Given the description of an element on the screen output the (x, y) to click on. 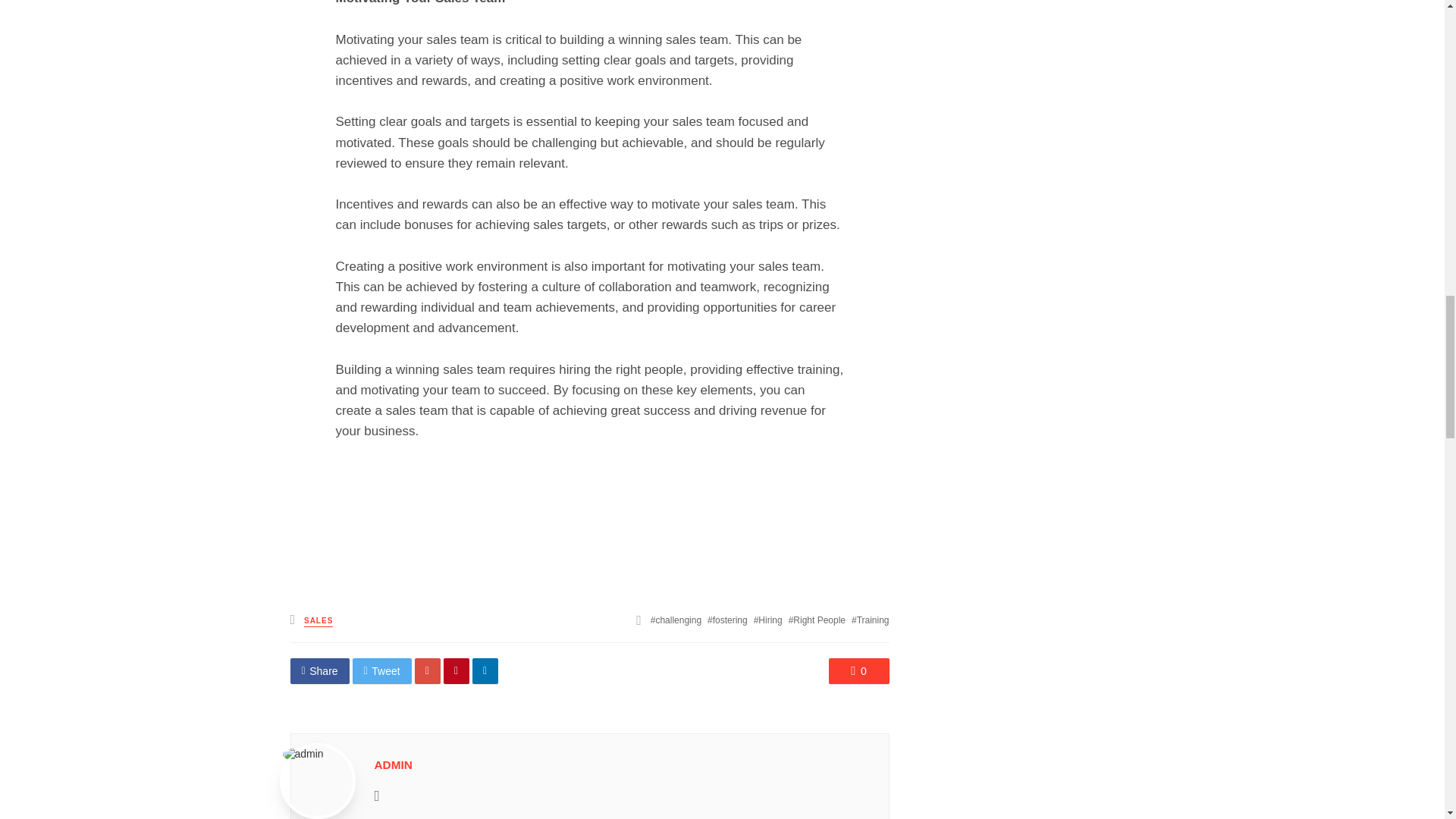
Share (319, 670)
Training (870, 620)
Tweet (382, 670)
ADMIN (393, 764)
Hiring (768, 620)
Share on Pinterest (456, 670)
Right People (817, 620)
Share on Facebook (319, 670)
Share on Linkedin (484, 670)
Share on Twitter (382, 670)
